Given the description of an element on the screen output the (x, y) to click on. 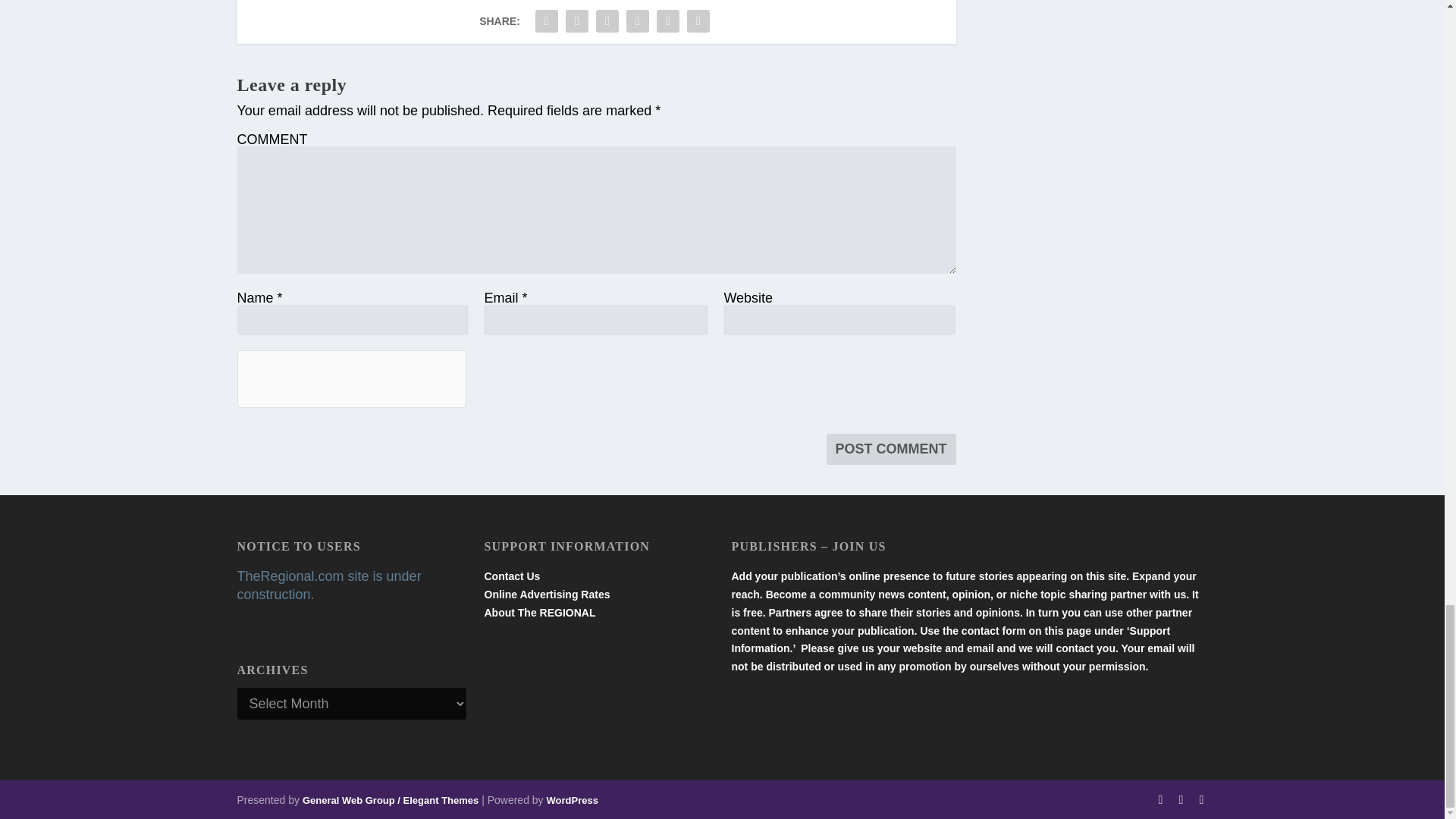
Post Comment (891, 449)
Premium WordPress Themes (390, 799)
